Given the description of an element on the screen output the (x, y) to click on. 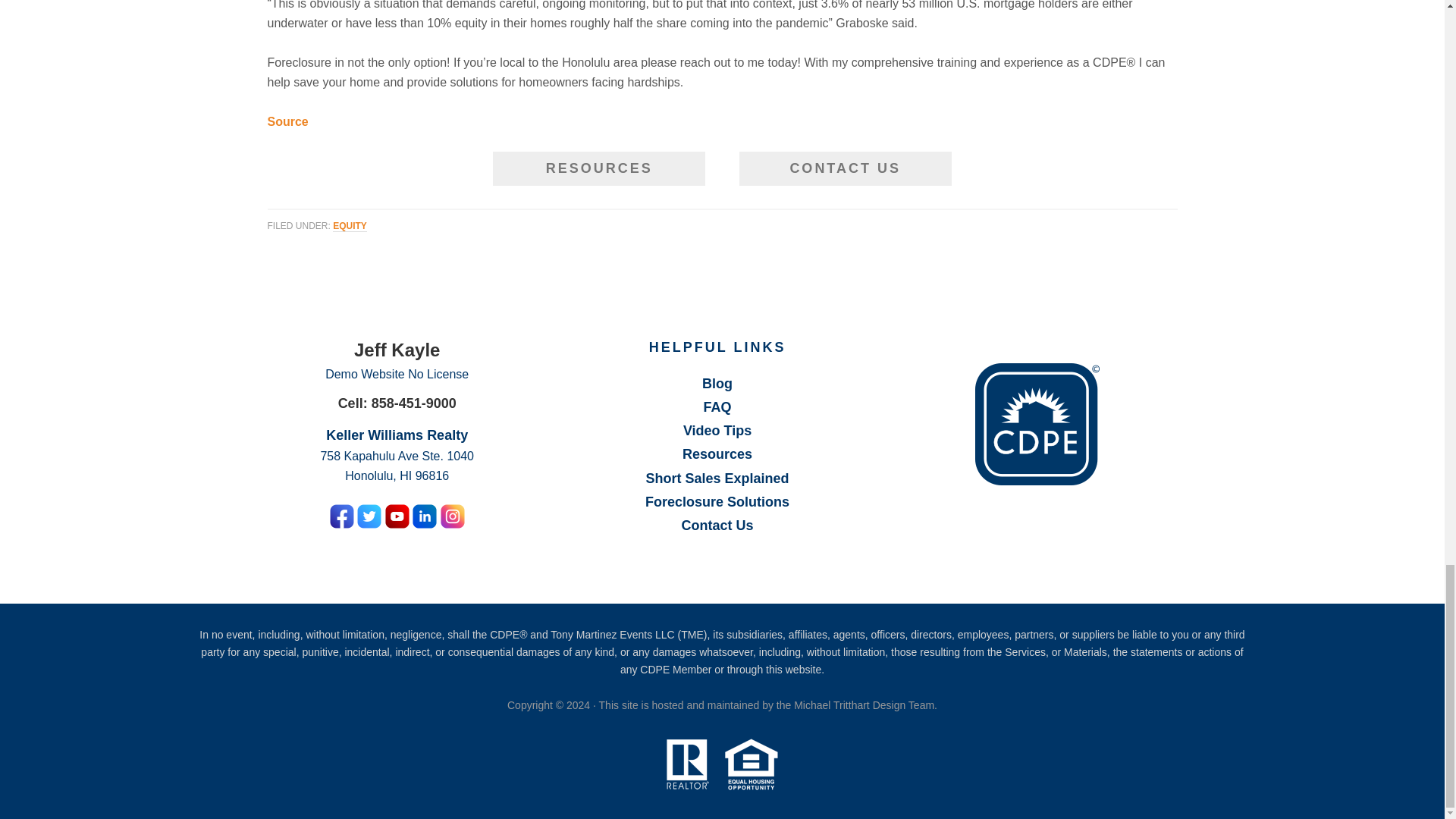
Source (286, 121)
CONTACT US (845, 168)
858-451-9000 (414, 403)
EQUITY (349, 225)
RESOURCES (598, 168)
Blog (716, 383)
CONTACT US (844, 168)
Video Tips (716, 430)
Resources (717, 453)
RESOURCES (598, 168)
Short Sales Explained (717, 478)
FAQ (717, 406)
